Given the description of an element on the screen output the (x, y) to click on. 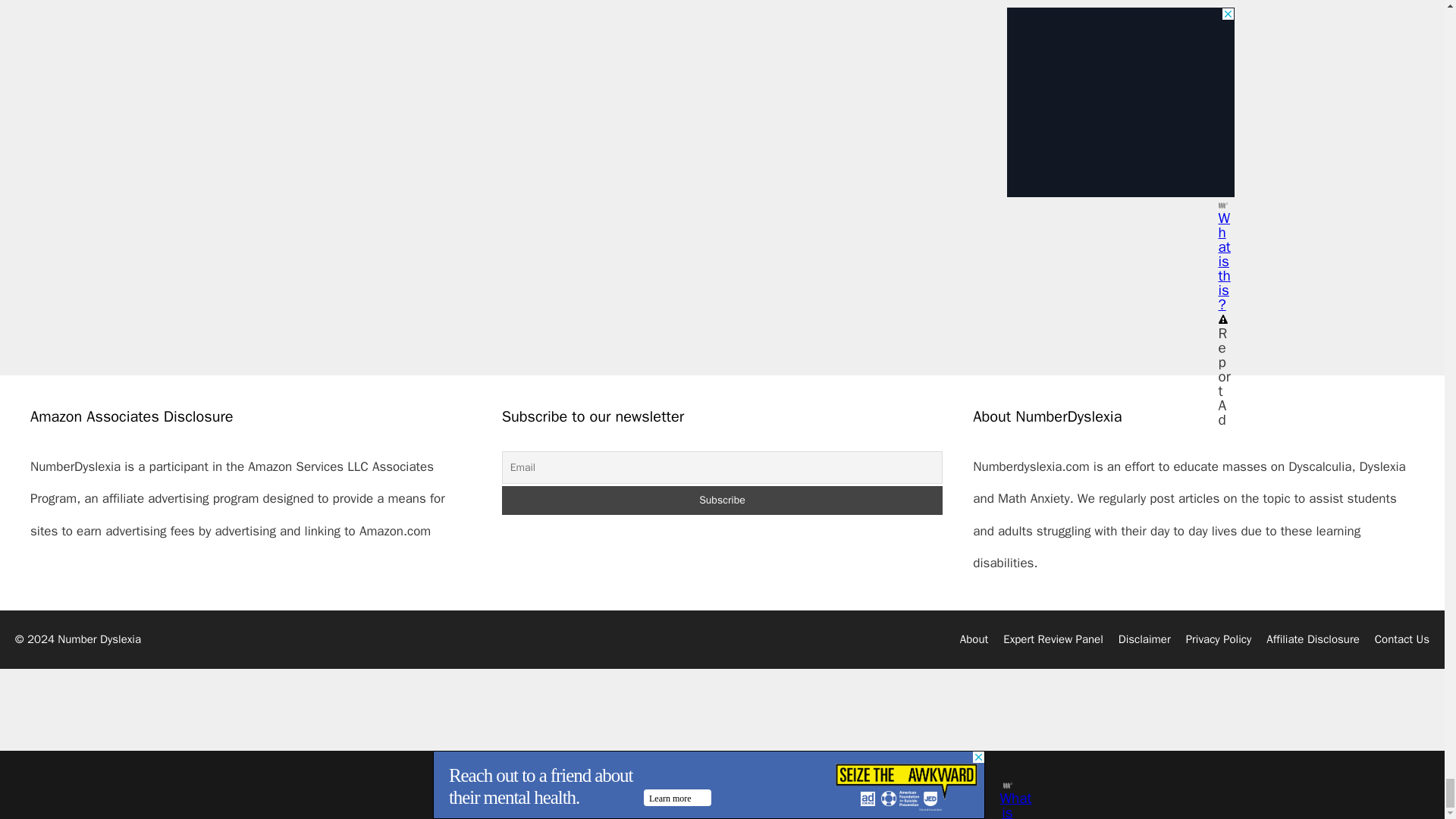
Subscribe (722, 500)
